Given the description of an element on the screen output the (x, y) to click on. 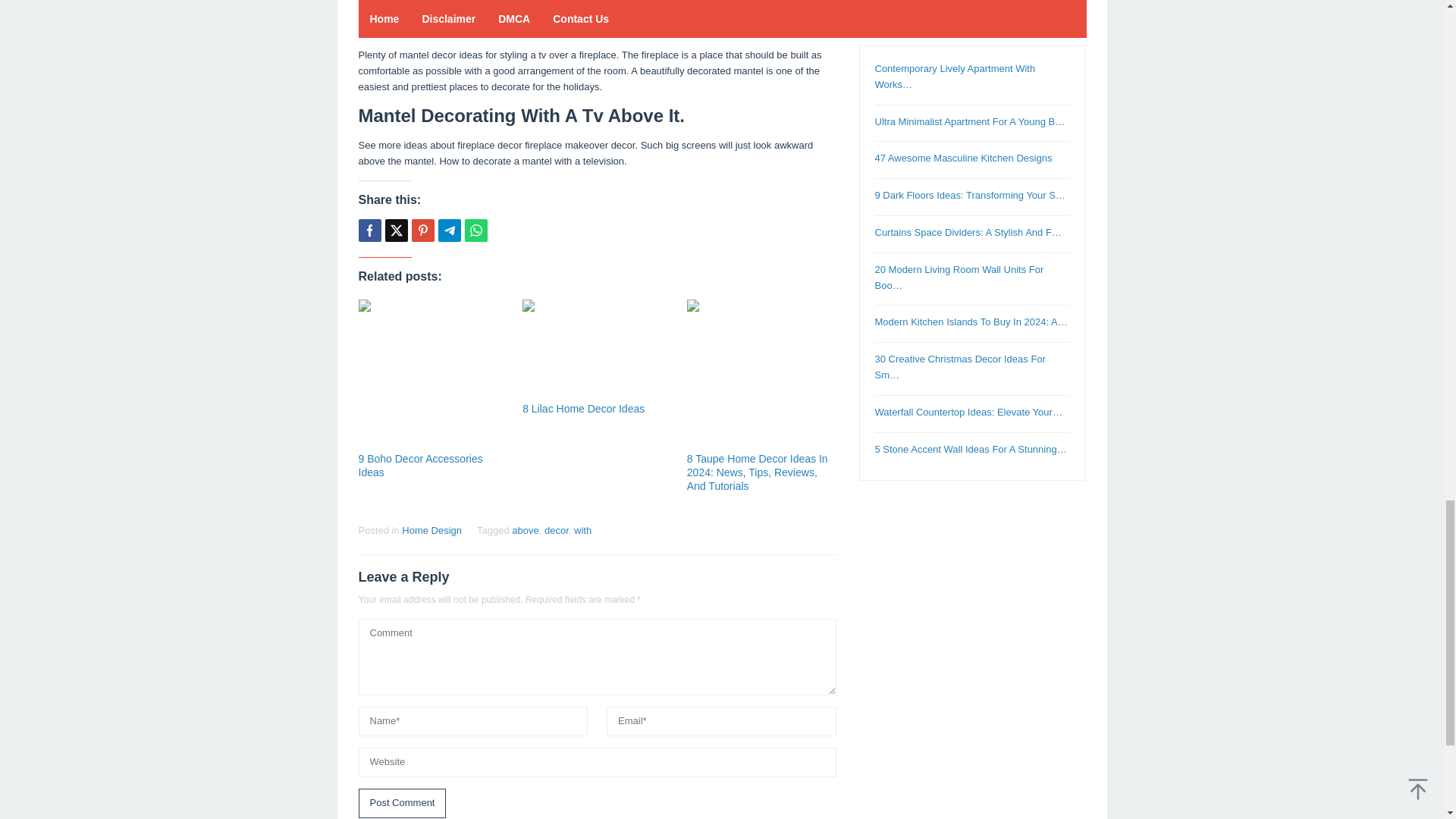
Telegram Share (449, 230)
decor (556, 530)
Tweet this (396, 230)
Post Comment (401, 803)
8 Lilac Home Decor Ideas (583, 408)
Permalink to: 9 Boho Decor Accessories Ideas (432, 373)
Home Design (431, 530)
Permalink to: 8 Lilac Home Decor Ideas (596, 348)
above (525, 530)
with (582, 530)
Share this (369, 230)
Pin this (421, 230)
9 Boho Decor Accessories Ideas (419, 465)
Whatsapp (475, 230)
